Given the description of an element on the screen output the (x, y) to click on. 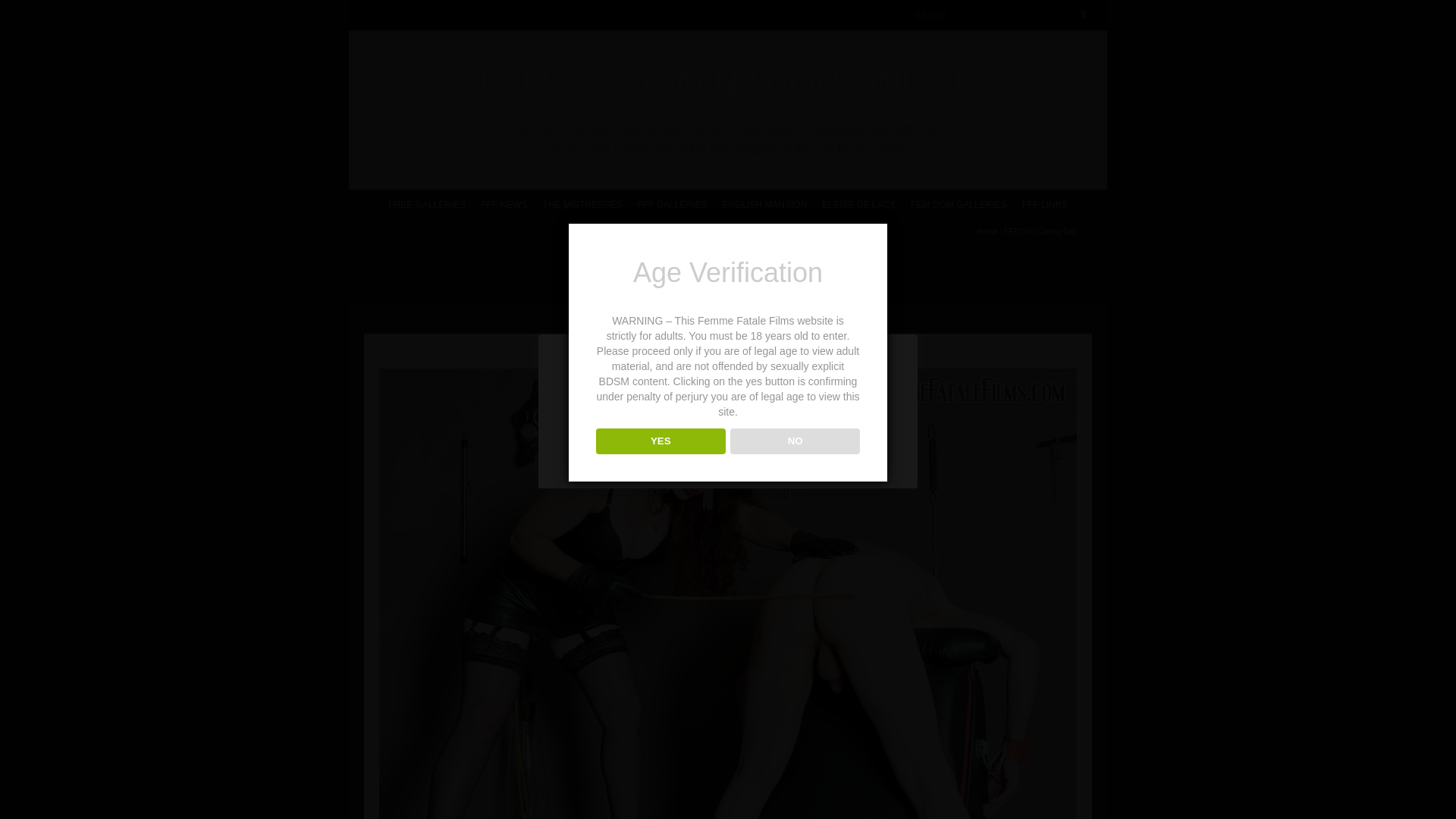
Caning Day (417, 343)
Search (28, 9)
Category (501, 342)
FFF GALLERIES (671, 203)
FREE GALLERIES (426, 203)
FFF NEWS (503, 203)
Female Domination Online  (727, 82)
THE MISTRESSES (582, 203)
FEMALE DOMINATION ONLINE (727, 82)
